Given the description of an element on the screen output the (x, y) to click on. 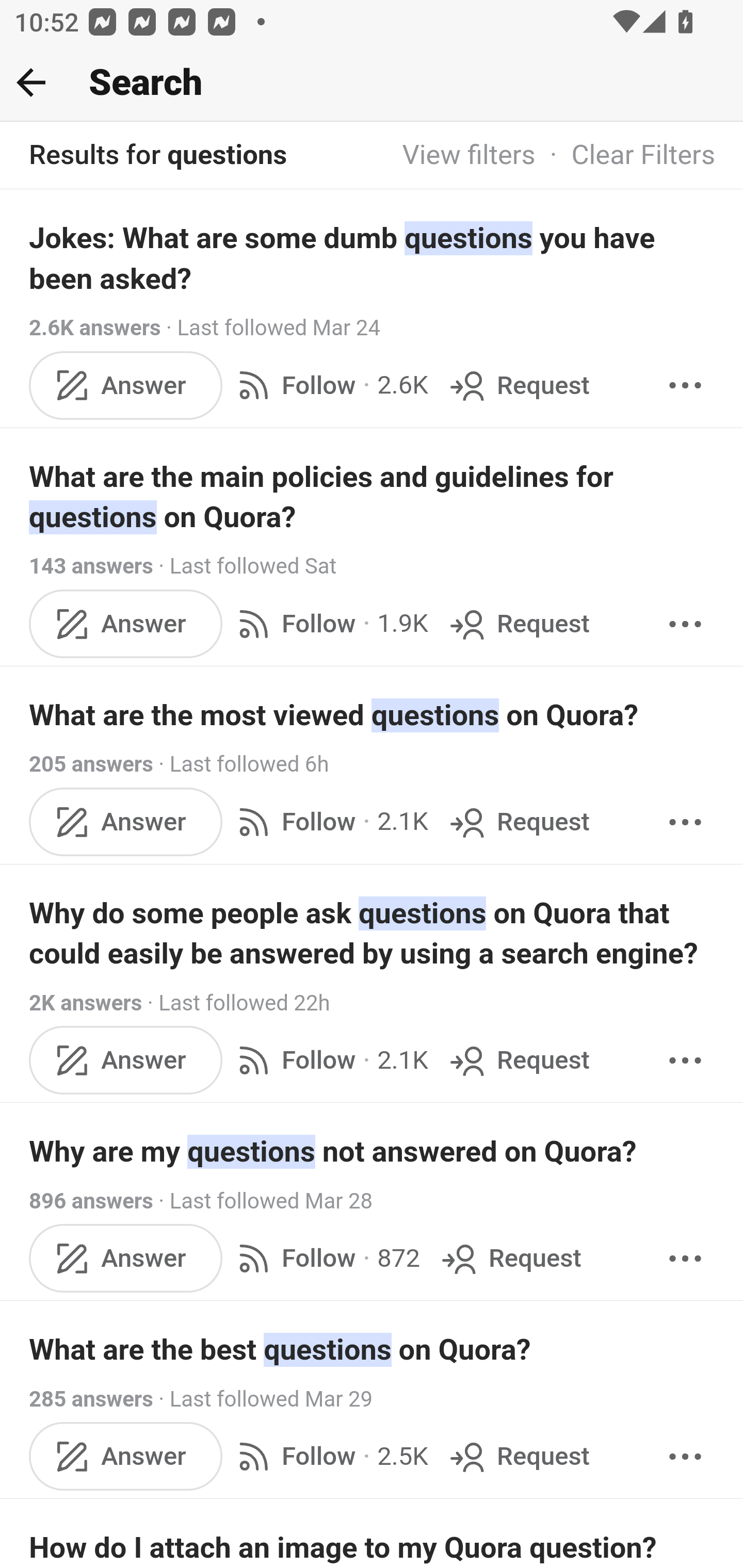
Back Search (371, 82)
Back (30, 82)
View filters (468, 155)
· Clear Filters · Clear Filters (625, 155)
2.6K answers 2.6K  answers (95, 328)
Answer (125, 385)
Follow · 2.6K (329, 385)
Request (517, 385)
More (684, 385)
143 answers 143  answers (90, 566)
Answer (125, 624)
Follow · 1.9K (329, 624)
Request (517, 624)
More (684, 624)
What are the most viewed questions on Quora? (372, 714)
205 answers 205  answers (90, 765)
Answer (125, 821)
Follow · 2.1K (329, 821)
Request (517, 821)
More (684, 821)
2K answers 2K  answers (85, 1003)
Answer (125, 1059)
Follow · 2.1K (329, 1059)
Request (517, 1059)
More (684, 1059)
Why are my questions not answered on Quora? (372, 1151)
896 answers 896  answers (90, 1200)
Answer (125, 1258)
Follow · 872 (324, 1258)
Request (509, 1258)
More (684, 1258)
What are the best questions on Quora? (372, 1349)
285 answers 285  answers (90, 1399)
Answer (125, 1456)
Follow · 2.5K (329, 1456)
Request (517, 1456)
More (684, 1456)
How do I attach an image to my Quora question? (372, 1546)
